Given the description of an element on the screen output the (x, y) to click on. 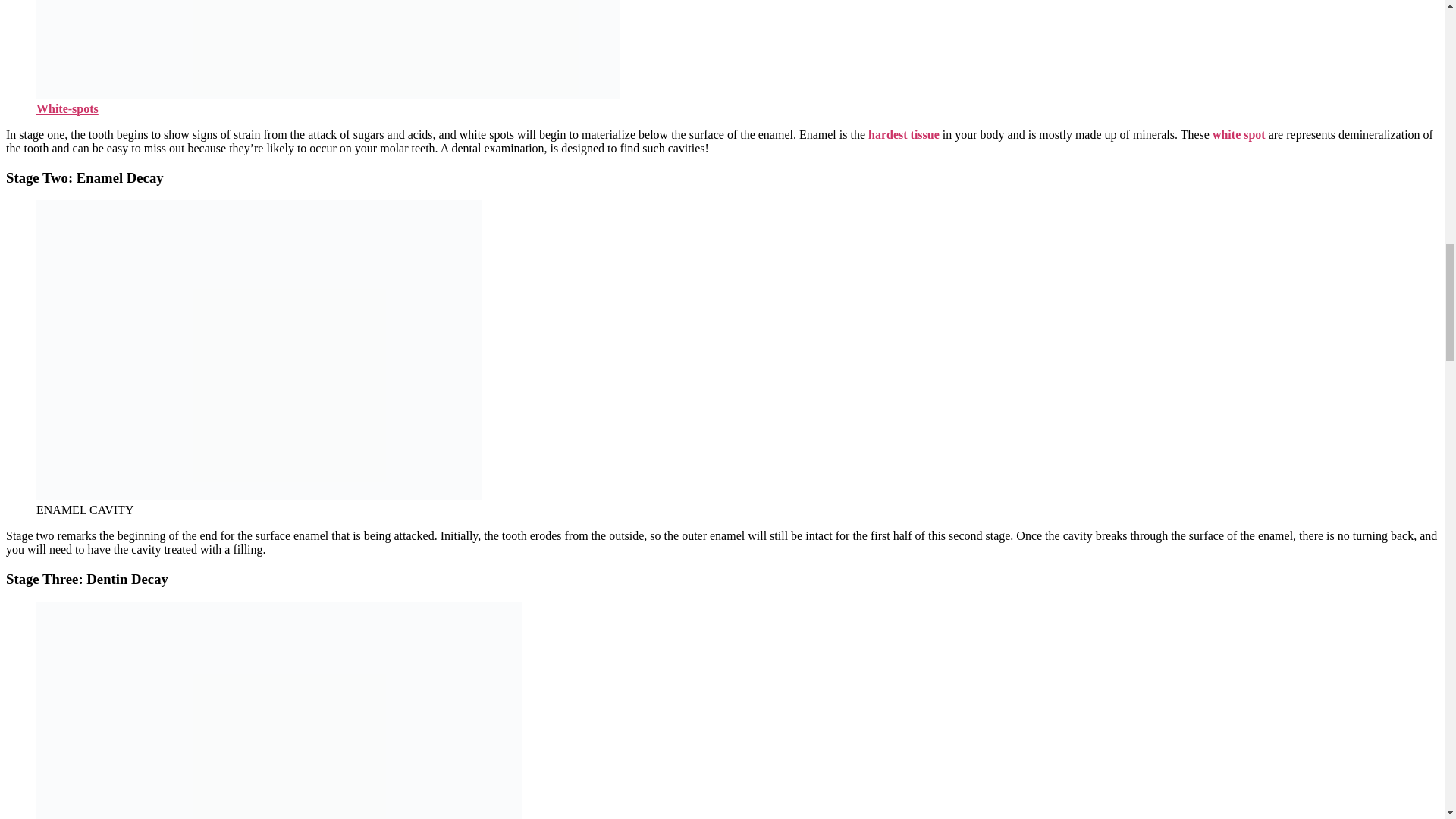
White-spots (67, 108)
hardest tissue (903, 133)
white spot (1238, 133)
